Given the description of an element on the screen output the (x, y) to click on. 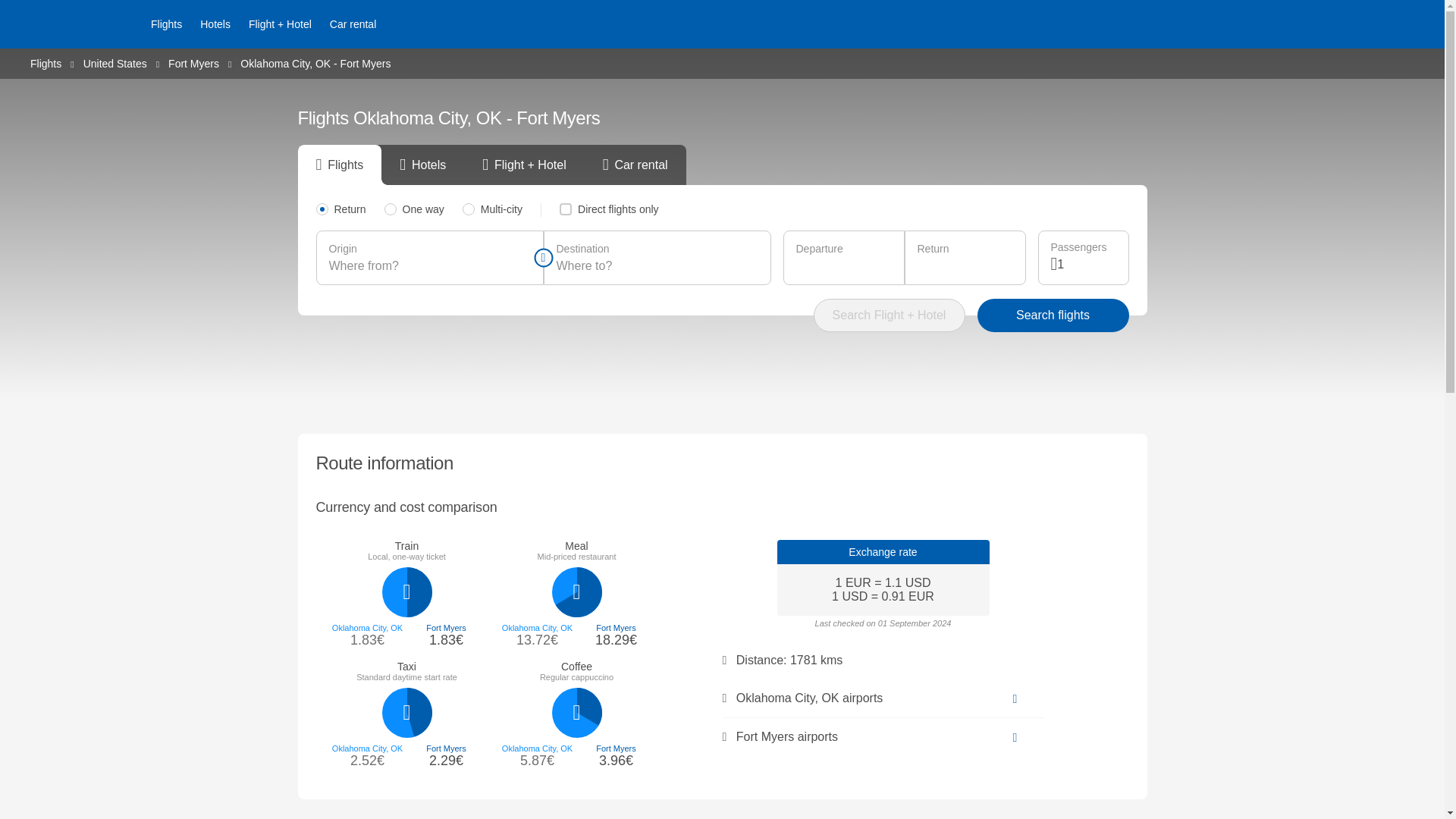
United States (114, 62)
Fort Myers (193, 62)
Search flights (1052, 315)
Flights (165, 24)
1 (1086, 263)
Oklahoma City, OK - Fort Myers (315, 63)
Flights (45, 62)
Hotels (215, 24)
Car rental (352, 24)
